Given the description of an element on the screen output the (x, y) to click on. 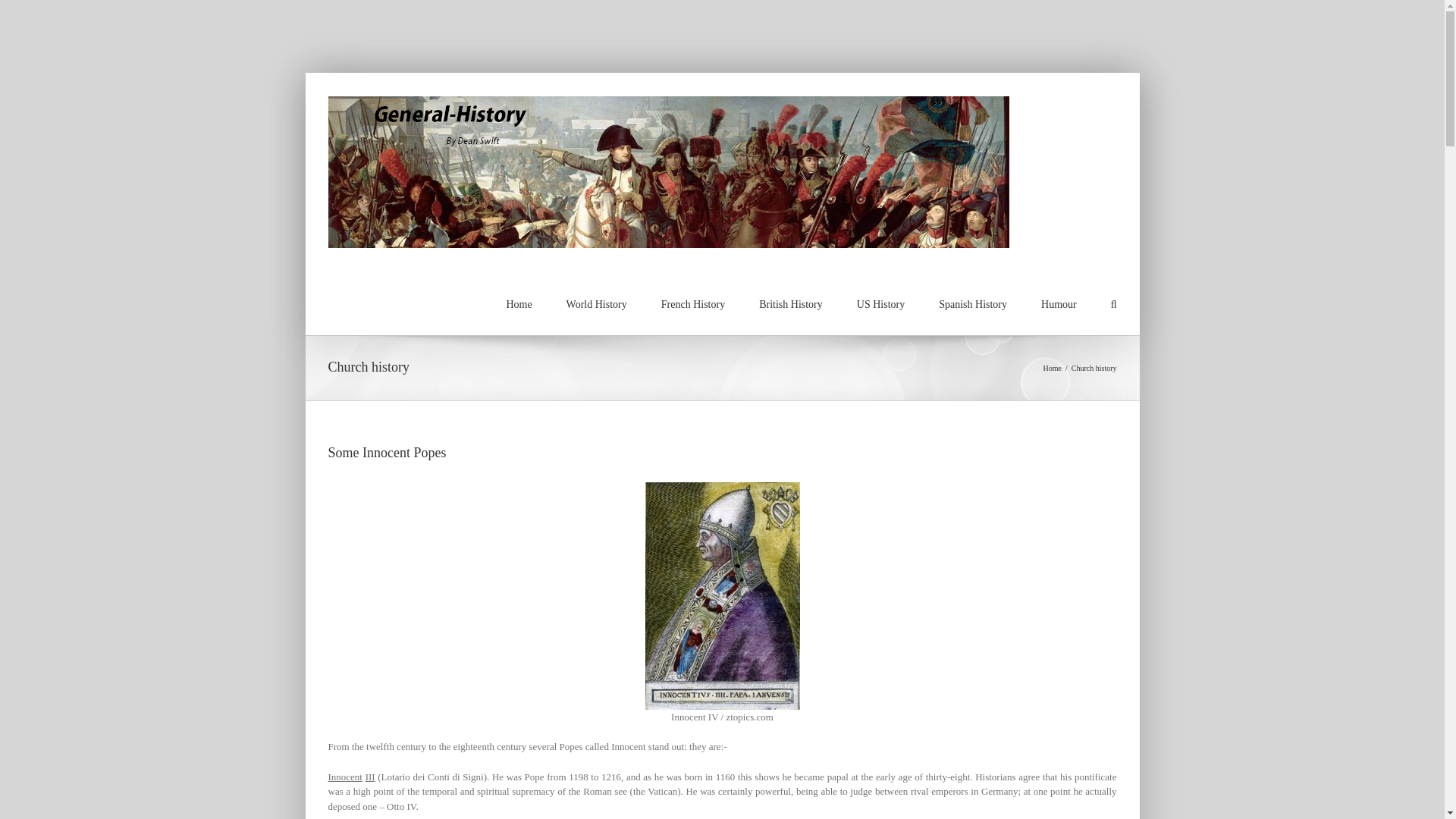
British History (790, 302)
World History (596, 302)
French History (693, 302)
Spanish History (973, 302)
Advertisement (721, 33)
Home (1052, 367)
Some Innocent Popes (386, 451)
